Given the description of an element on the screen output the (x, y) to click on. 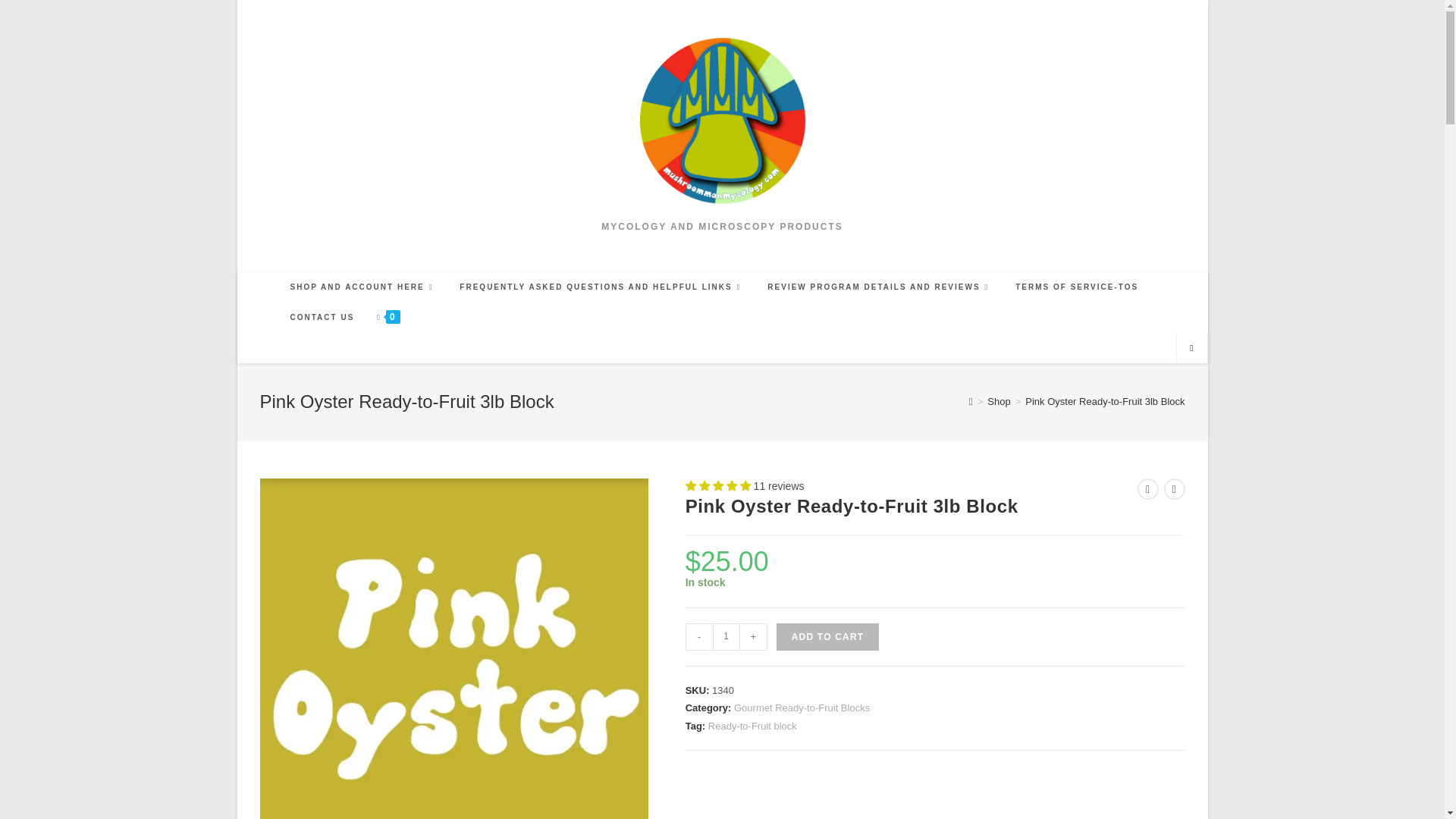
1 (726, 636)
TERMS OF SERVICE-TOS (1077, 286)
pinkoyster (453, 648)
FREQUENTLY ASKED QUESTIONS AND HELPFUL LINKS (601, 286)
REVIEW PROGRAM DETAILS AND REVIEWS (879, 286)
CONTACT US (322, 317)
0 (387, 317)
SHOP AND ACCOUNT HERE (363, 286)
